Given the description of an element on the screen output the (x, y) to click on. 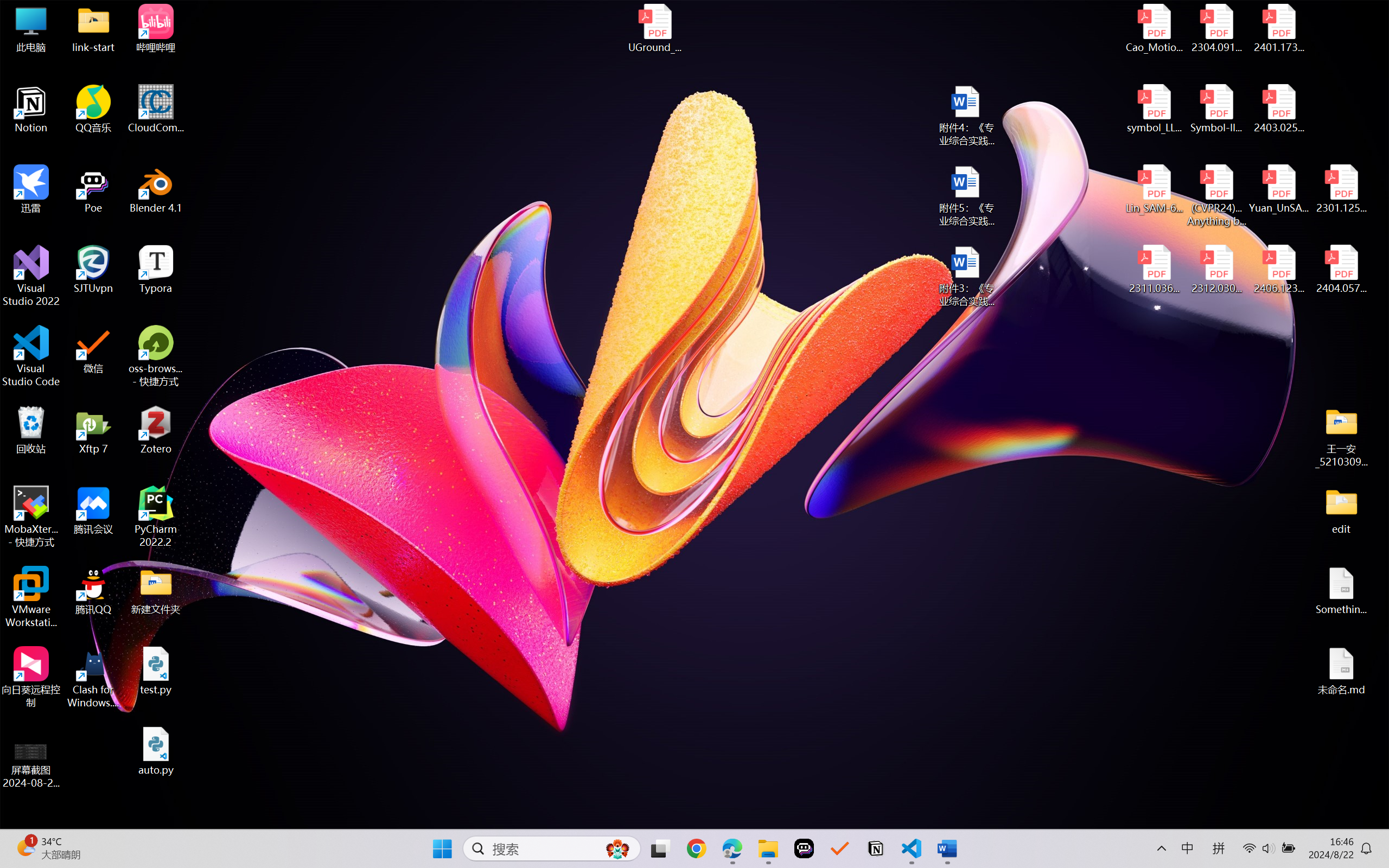
(CVPR24)Matching Anything by Segmenting Anything.pdf (1216, 195)
Blender 4.1 (156, 189)
auto.py (156, 751)
PyCharm 2022.2 (156, 516)
